Given the description of an element on the screen output the (x, y) to click on. 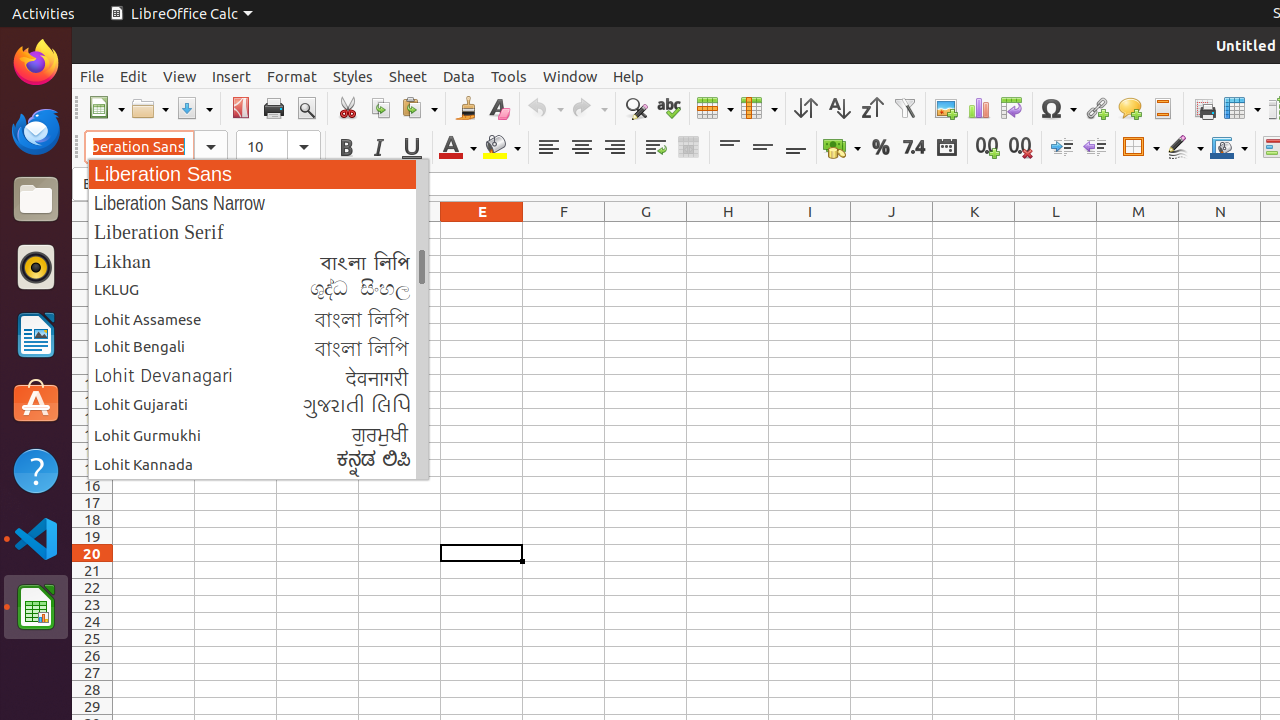
Likhan Element type: list-item (258, 260)
Increase Element type: push-button (1061, 147)
Cut Element type: push-button (347, 108)
H1 Element type: table-cell (728, 230)
Lohit Bengali Element type: list-item (258, 347)
